Given the description of an element on the screen output the (x, y) to click on. 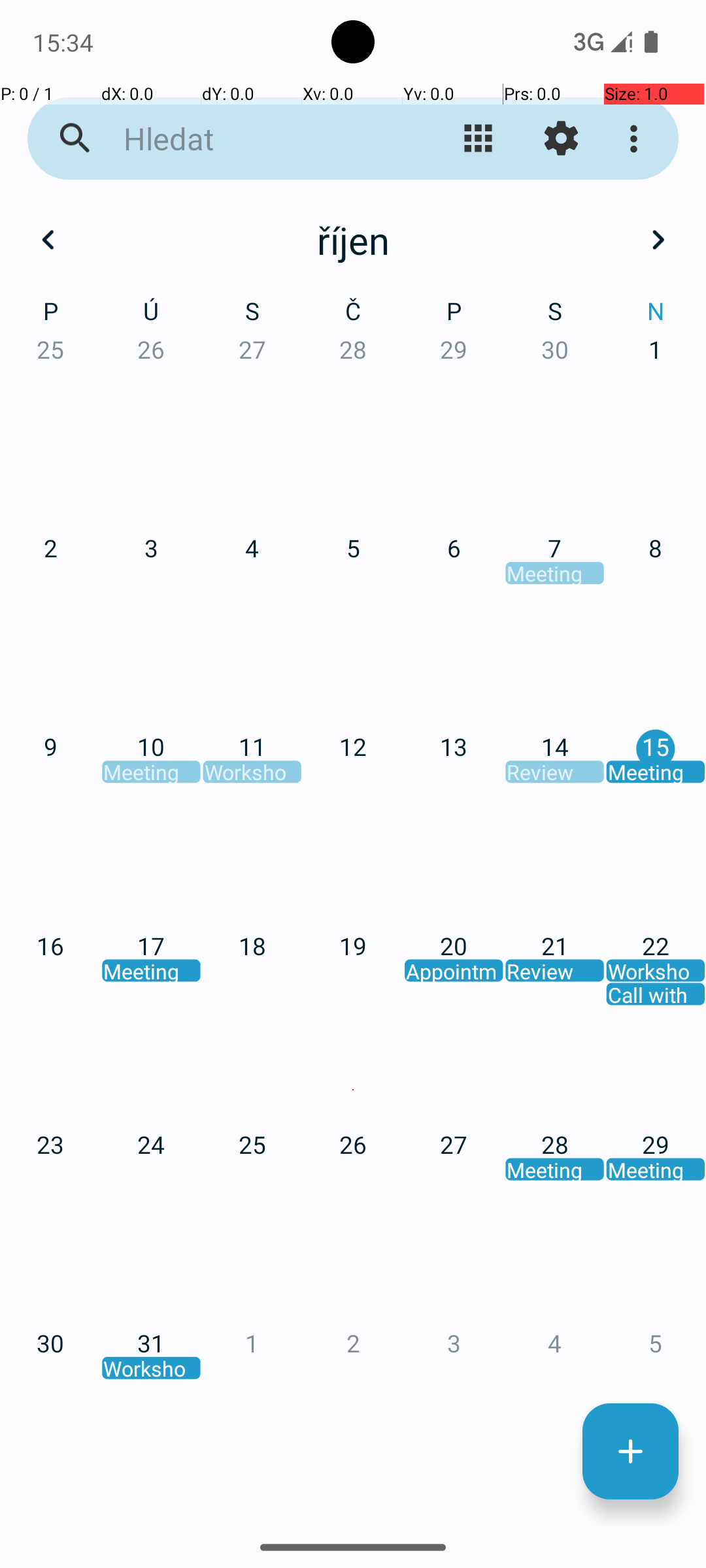
Hledat Element type: android.widget.EditText (252, 138)
Změnit zobrazení Element type: android.widget.Button (477, 138)
Nastavení Element type: android.widget.Button (560, 138)
Další možnosti Element type: android.widget.ImageView (636, 138)
Nová událost Element type: android.widget.ImageButton (630, 1451)
říjen Element type: android.widget.TextView (352, 239)
